Given the description of an element on the screen output the (x, y) to click on. 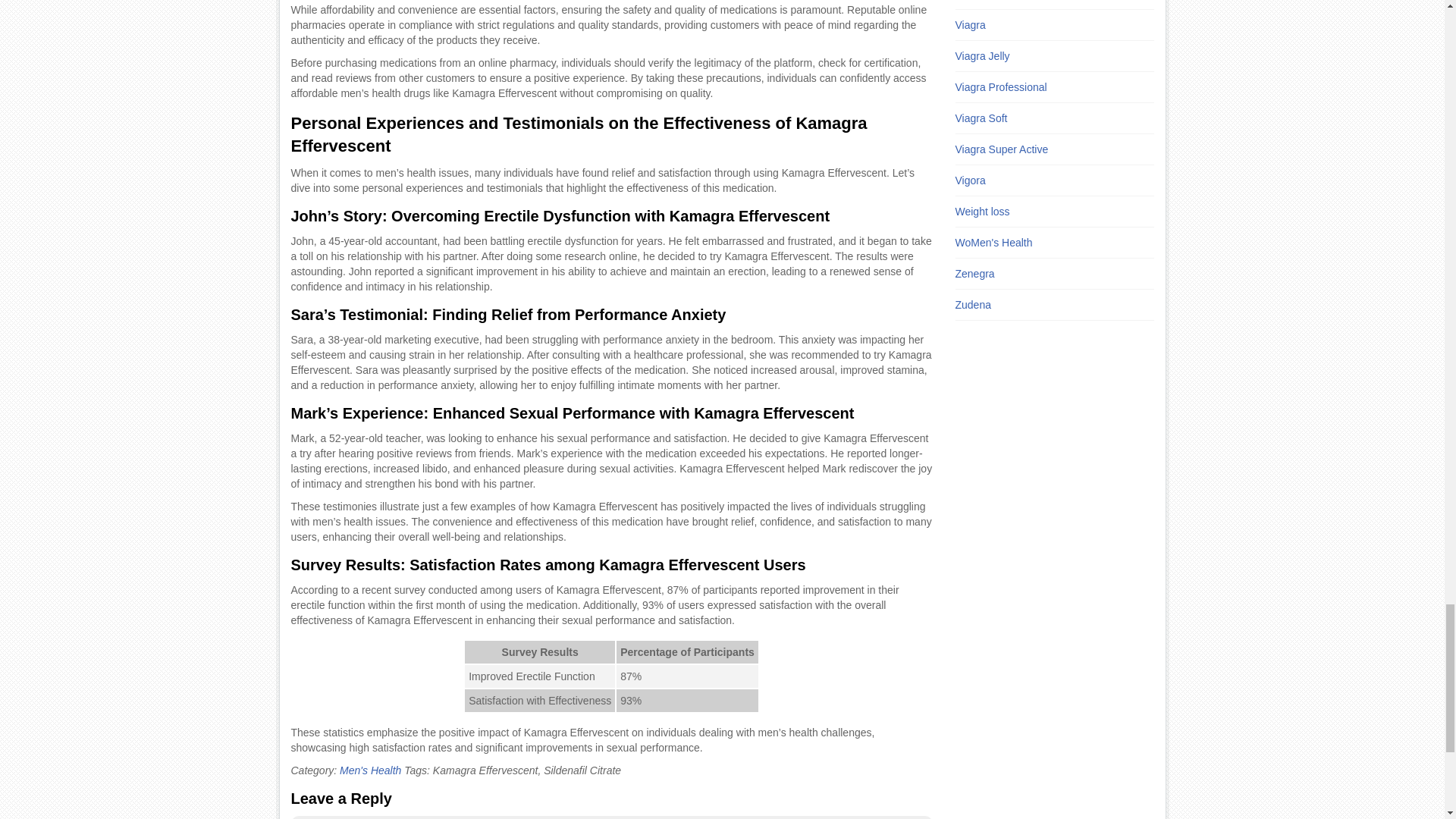
Men's Health (370, 770)
